Given the description of an element on the screen output the (x, y) to click on. 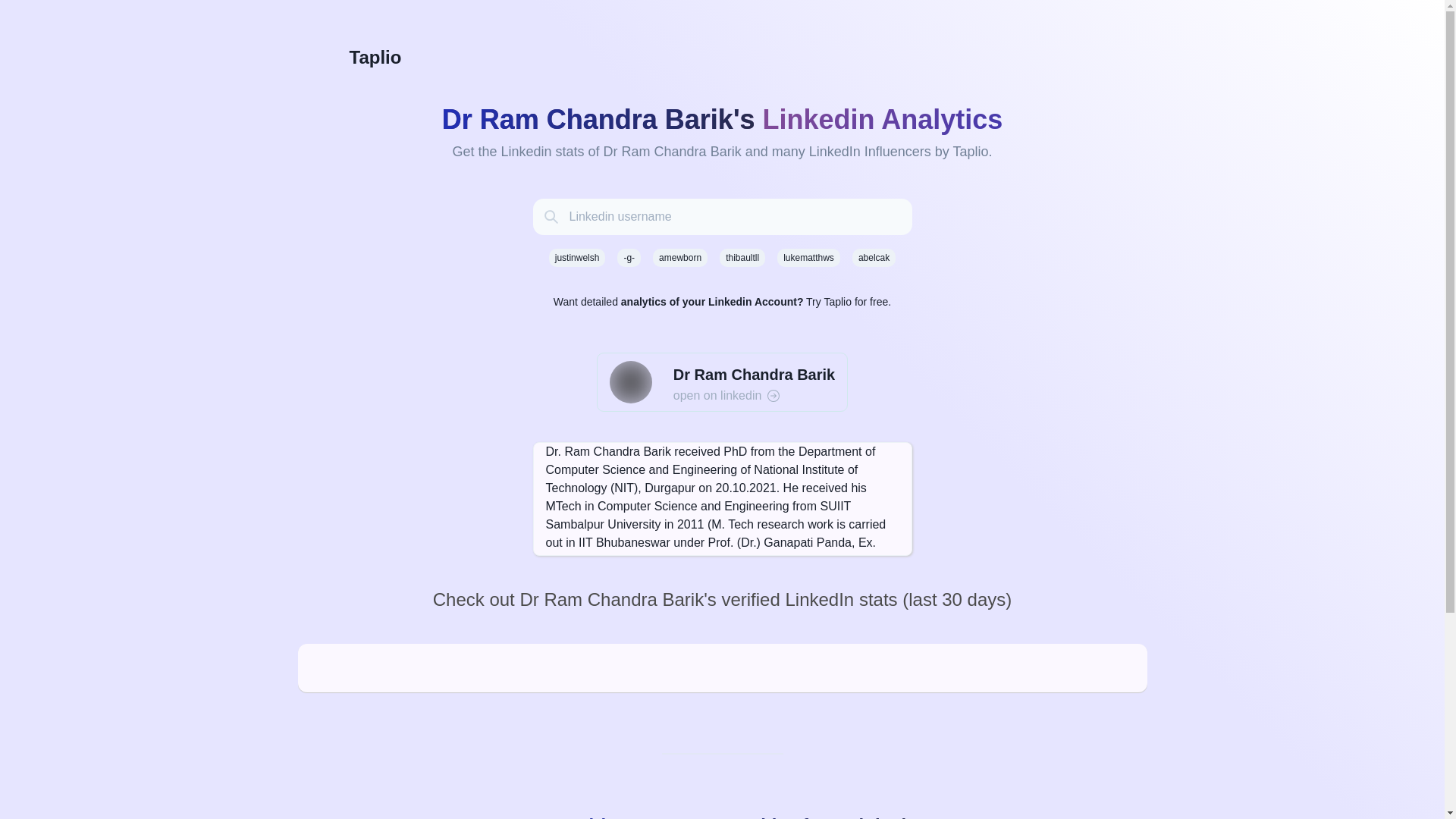
abelcak (873, 257)
amewborn (679, 257)
open on linkedin (753, 395)
LinkedIn Influencers (870, 151)
thibaultll (742, 257)
lukematthws (808, 257)
-g- (628, 257)
Taplio (721, 57)
justinwelsh (576, 257)
